Given the description of an element on the screen output the (x, y) to click on. 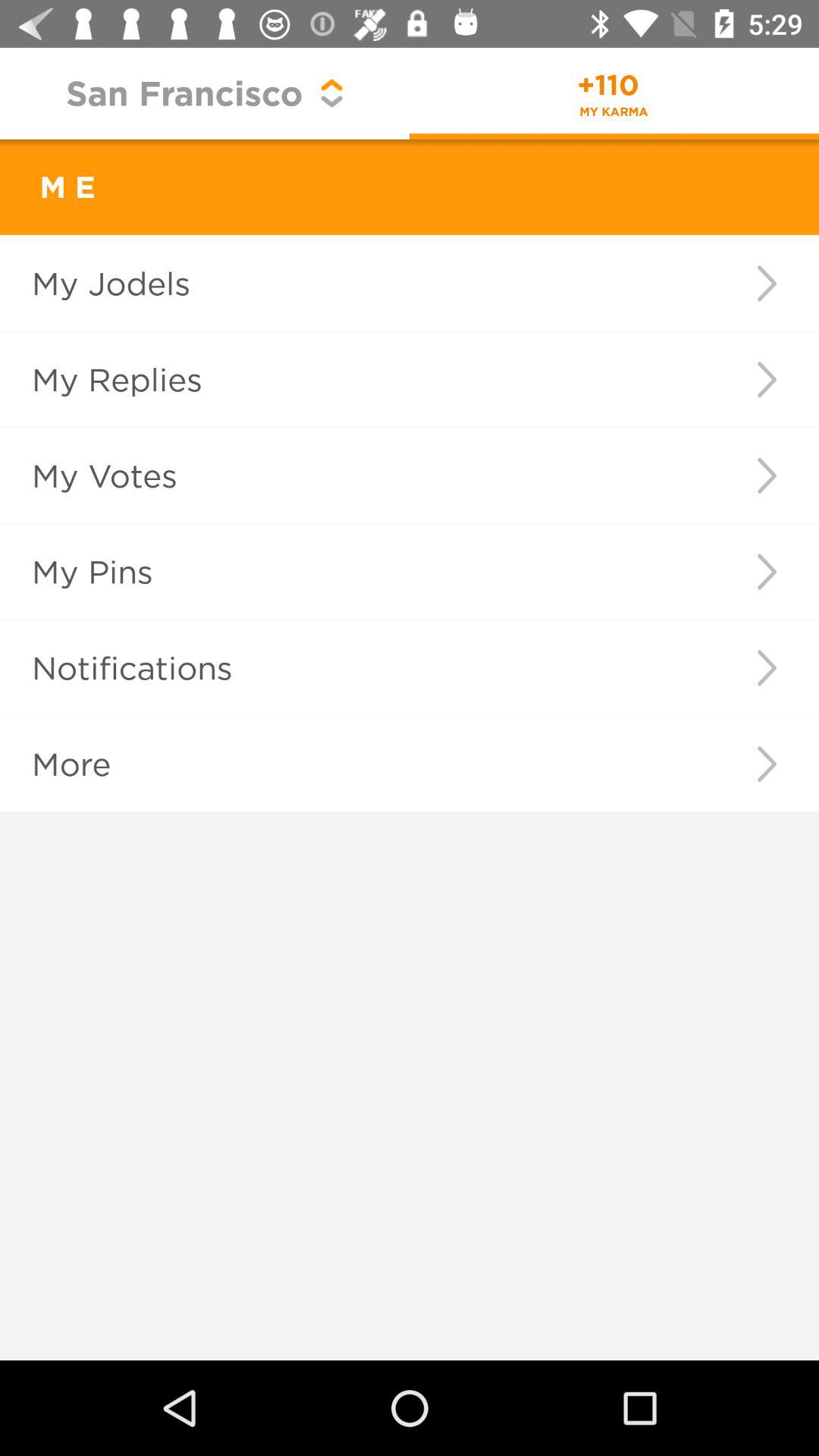
flip until the m e item (47, 187)
